Given the description of an element on the screen output the (x, y) to click on. 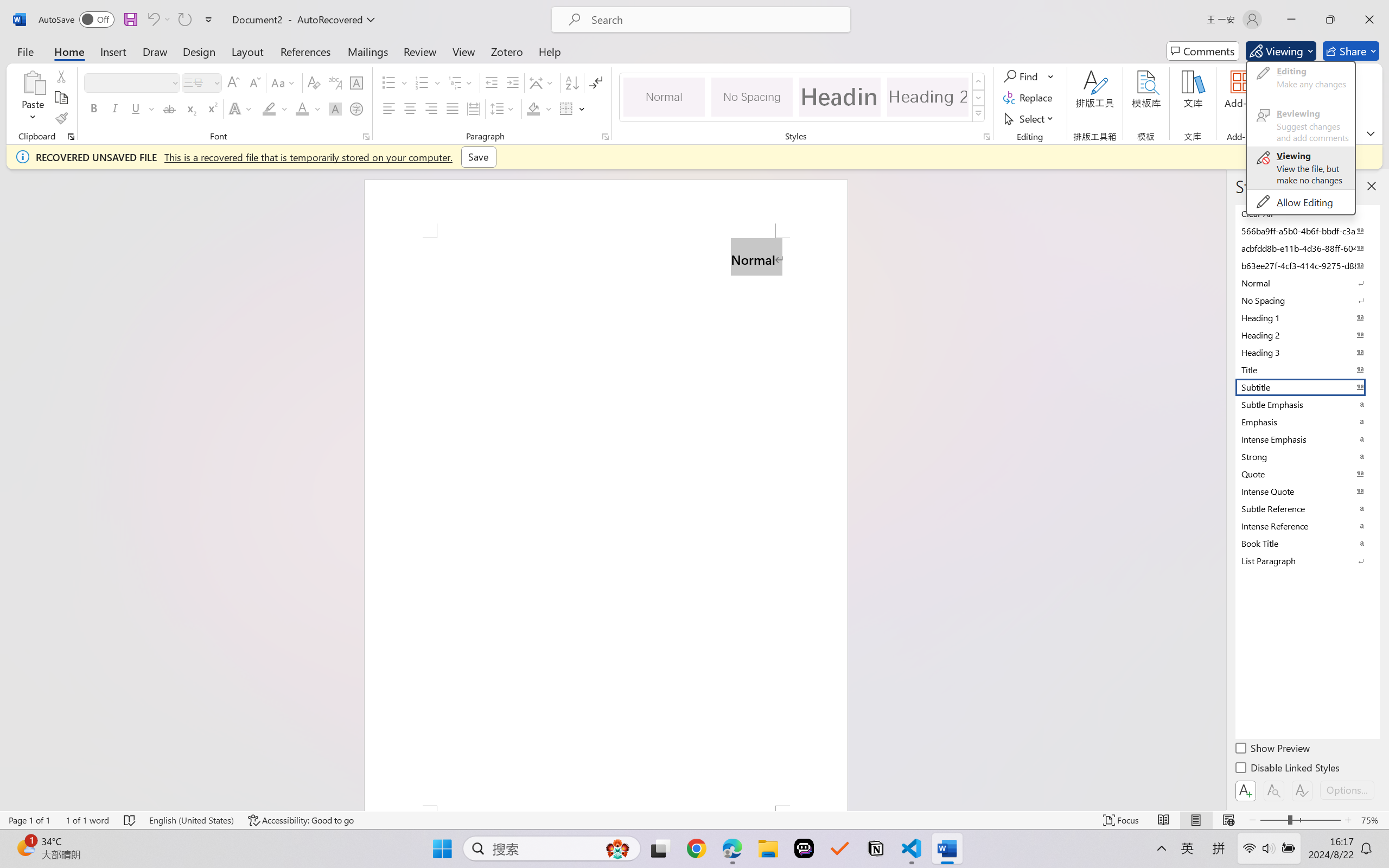
Row Down (978, 97)
Styles (978, 113)
Bold (94, 108)
Character Border (356, 82)
Justify (452, 108)
Intense Reference (1306, 525)
Cut (60, 75)
Row up (978, 81)
Notion (875, 848)
